Given the description of an element on the screen output the (x, y) to click on. 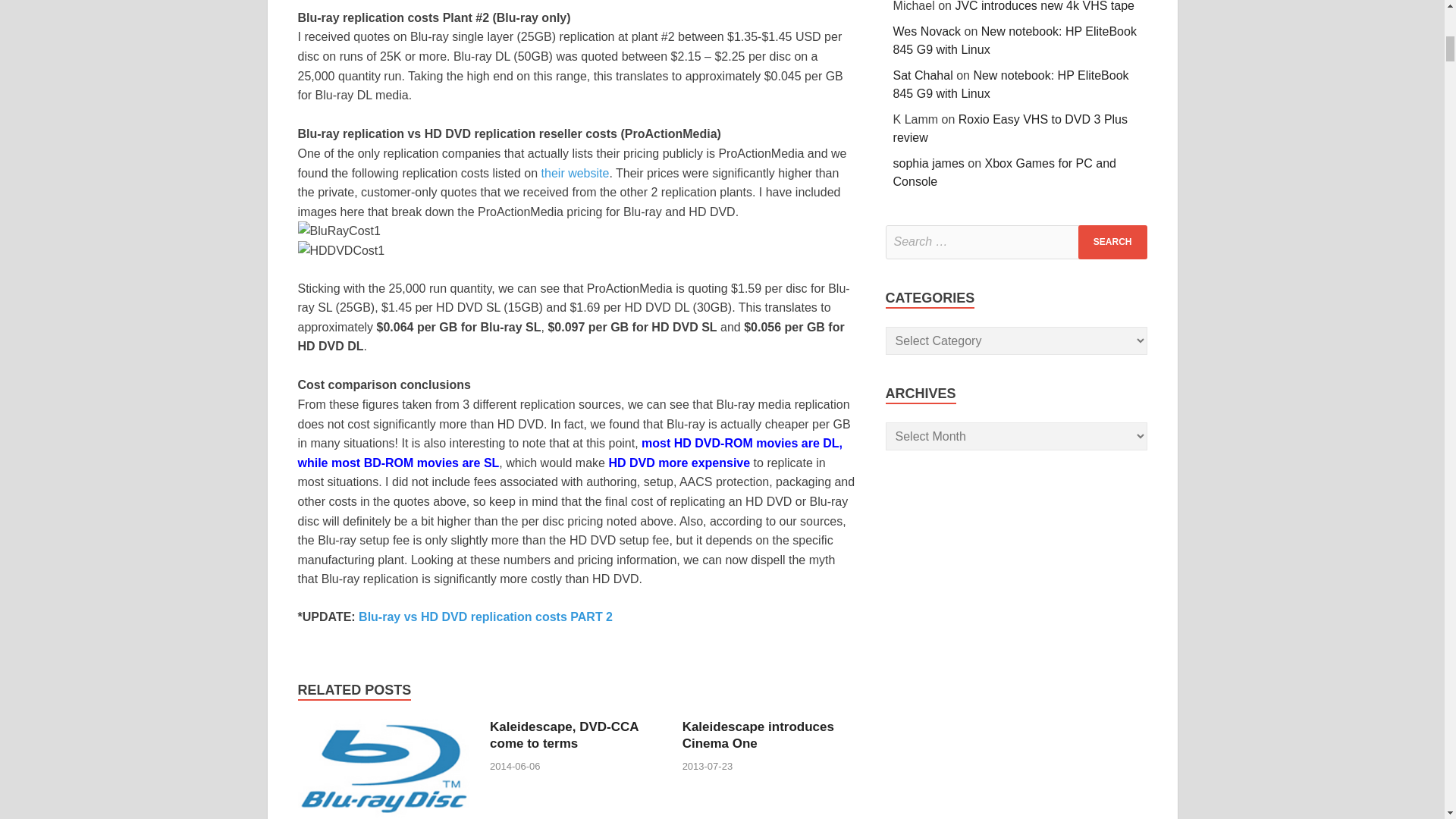
Kaleidescape introduces Cinema One (758, 735)
Kaleidescape, DVD-CCA come to terms (564, 735)
Blu-ray vs HD DVD replication costs PART 2 (485, 616)
Kaleidescape introduces Cinema One (758, 735)
Search (1112, 242)
their website (575, 173)
Search (1112, 242)
Kaleidescape, DVD-CCA come to terms (564, 735)
